Given the description of an element on the screen output the (x, y) to click on. 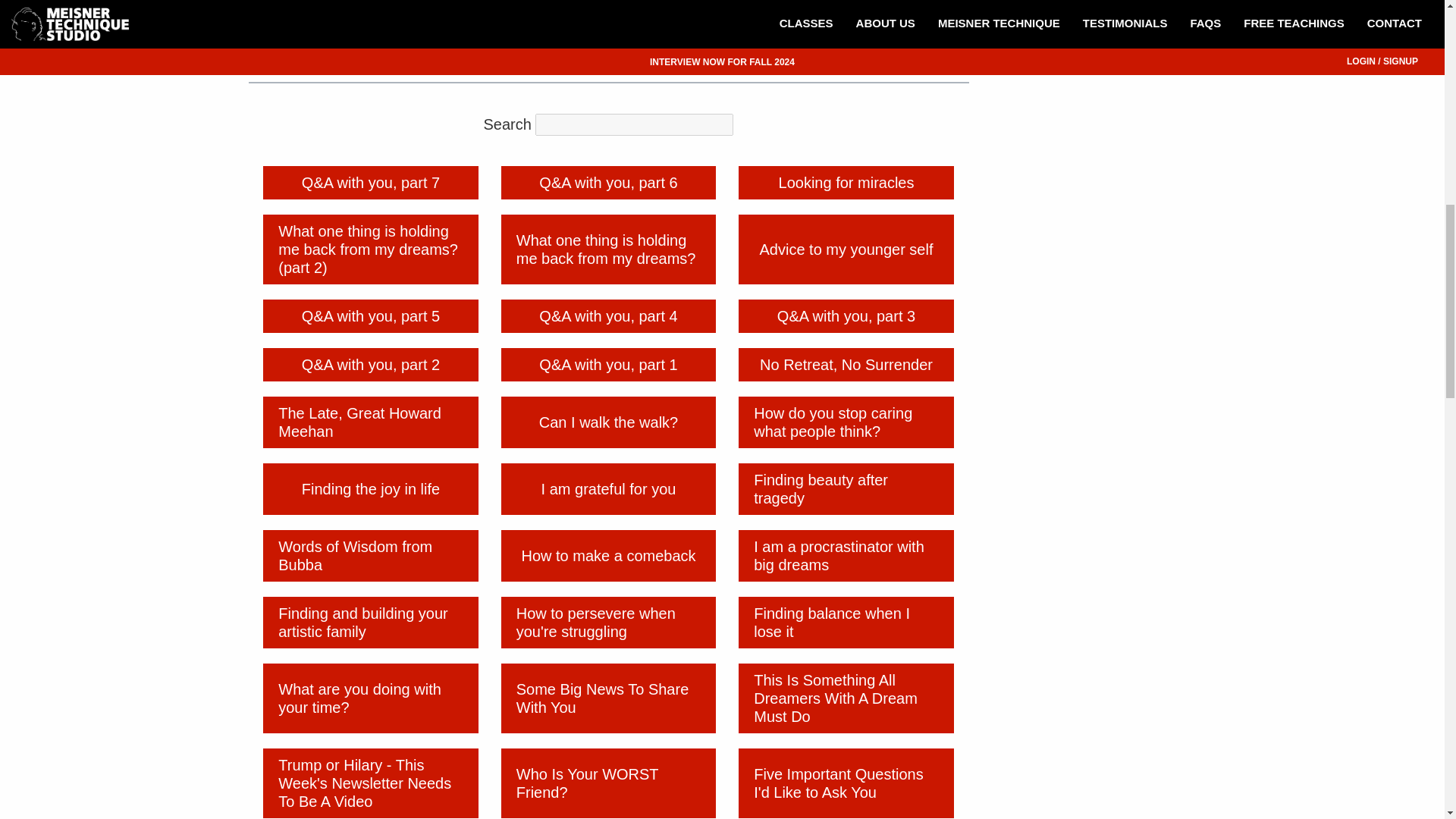
I am grateful for you (608, 488)
Finding beauty after tragedy (845, 488)
Advice to my younger self (845, 248)
Can I walk the walk? (608, 421)
Finding and building your artistic family (371, 621)
Words of Wisdom from Bubba (371, 554)
Looking for miracles (845, 182)
No Retreat, No Surrender (845, 363)
How do you stop caring what people think? (845, 421)
I am a procrastinator with big dreams (845, 554)
